Given the description of an element on the screen output the (x, y) to click on. 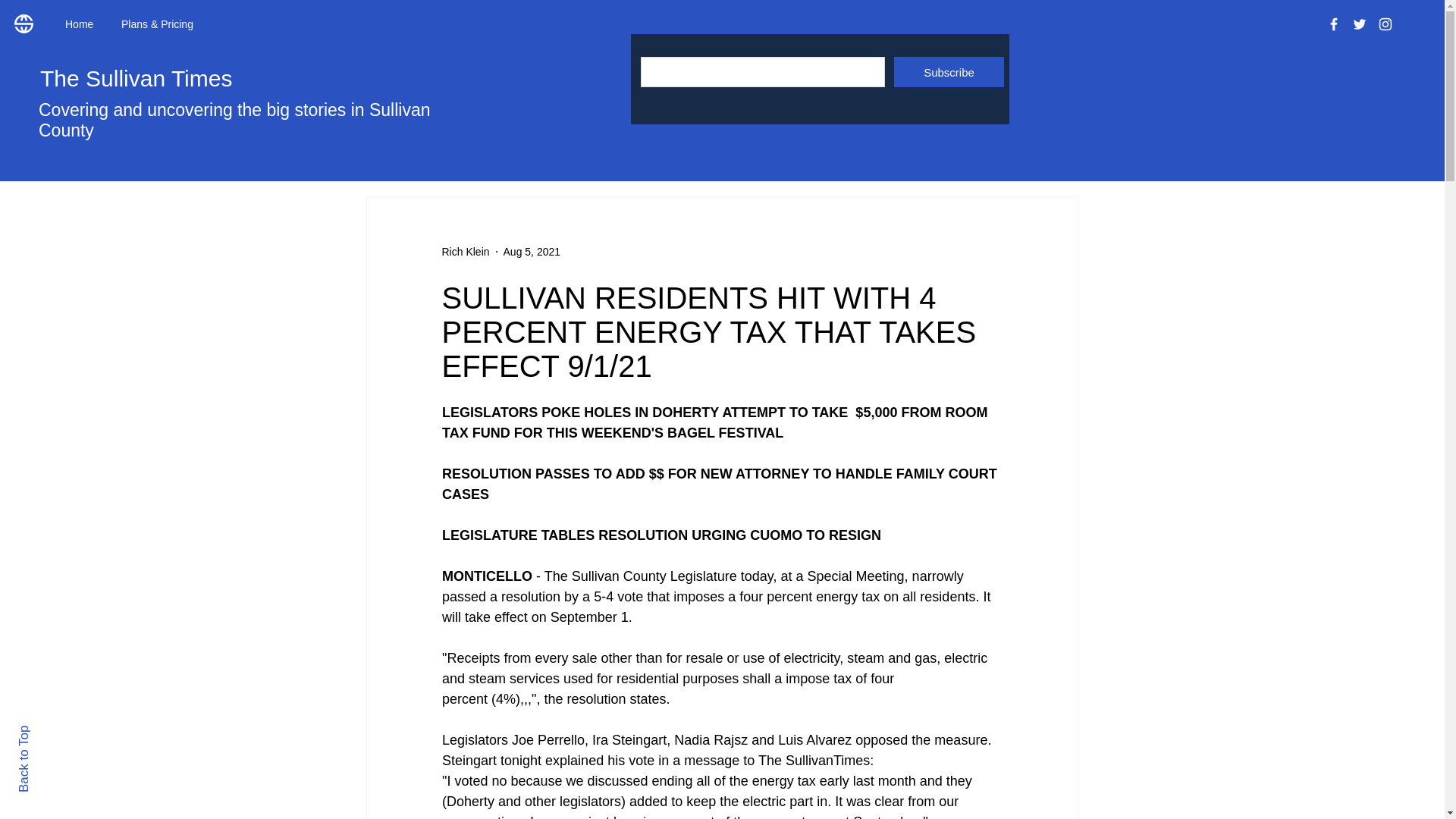
Home (81, 24)
Subscribe (948, 71)
Back to Top (50, 731)
Rich Klein (465, 252)
The Sullivan Times (135, 78)
Aug 5, 2021 (531, 251)
